Given the description of an element on the screen output the (x, y) to click on. 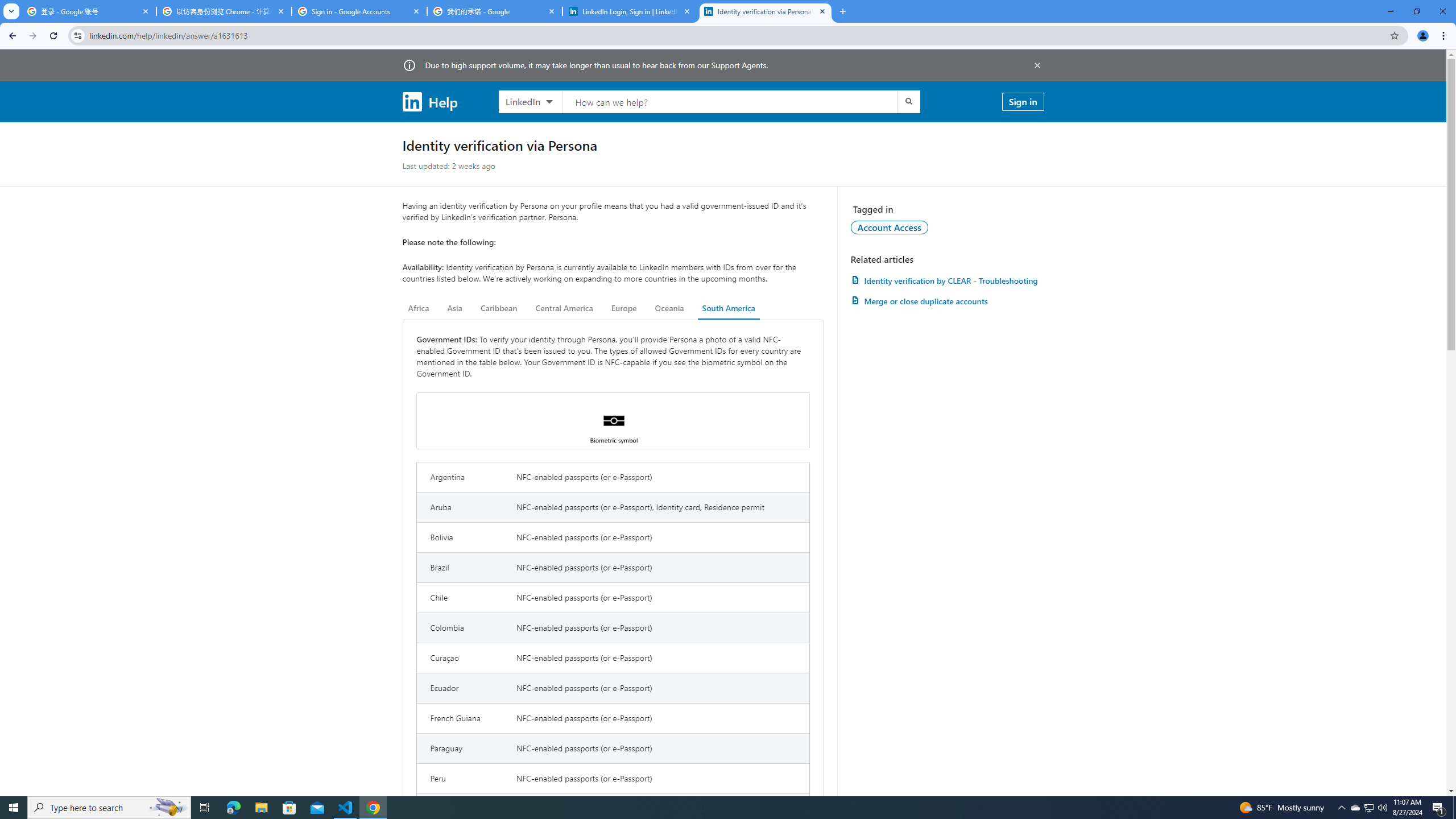
South America (728, 308)
Identity verification by CLEAR - Troubleshooting (946, 280)
Account Access (889, 227)
AutomationID: article-link-a1457505 (946, 280)
